Given the description of an element on the screen output the (x, y) to click on. 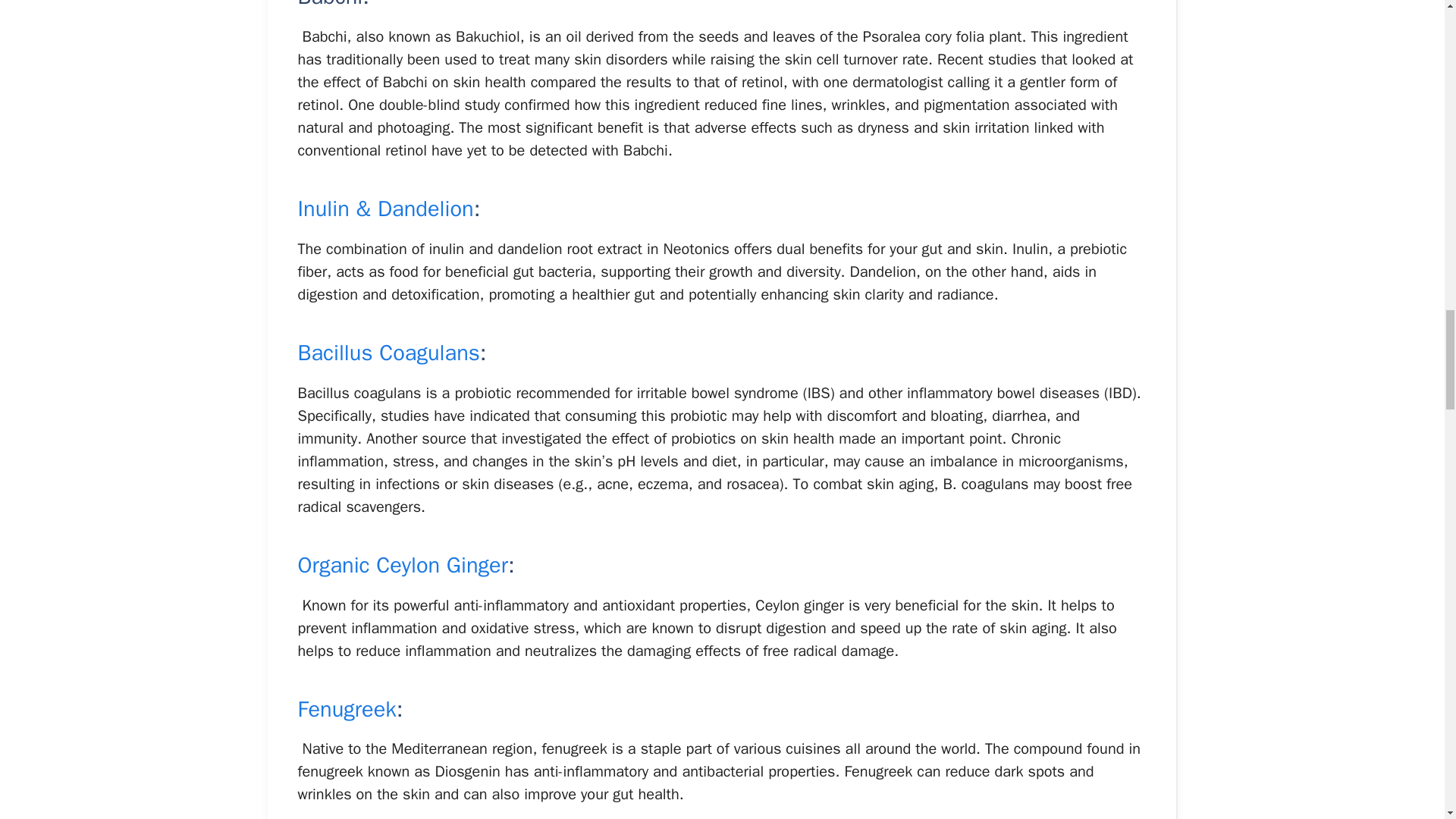
Fenugreek (346, 709)
Organic Ceylon Ginger (401, 565)
Bacillus Coagulans (388, 352)
